Given the description of an element on the screen output the (x, y) to click on. 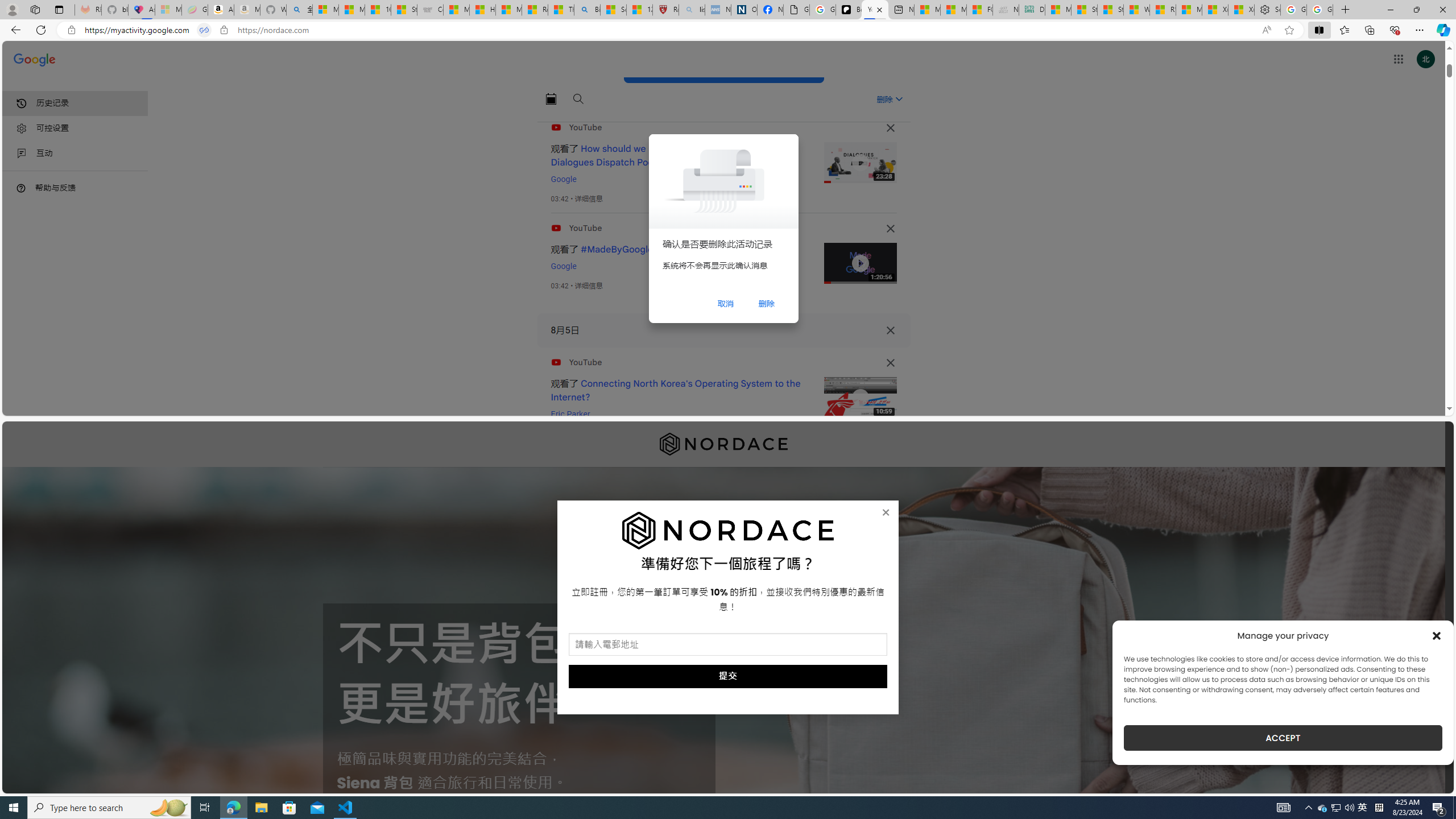
Class: asE2Ub NMm5M (898, 99)
Class: TjcpUd NMm5M (889, 362)
Class: IVR0f NMm5M (860, 397)
AutomationID: field_5_1 (727, 645)
